Given the description of an element on the screen output the (x, y) to click on. 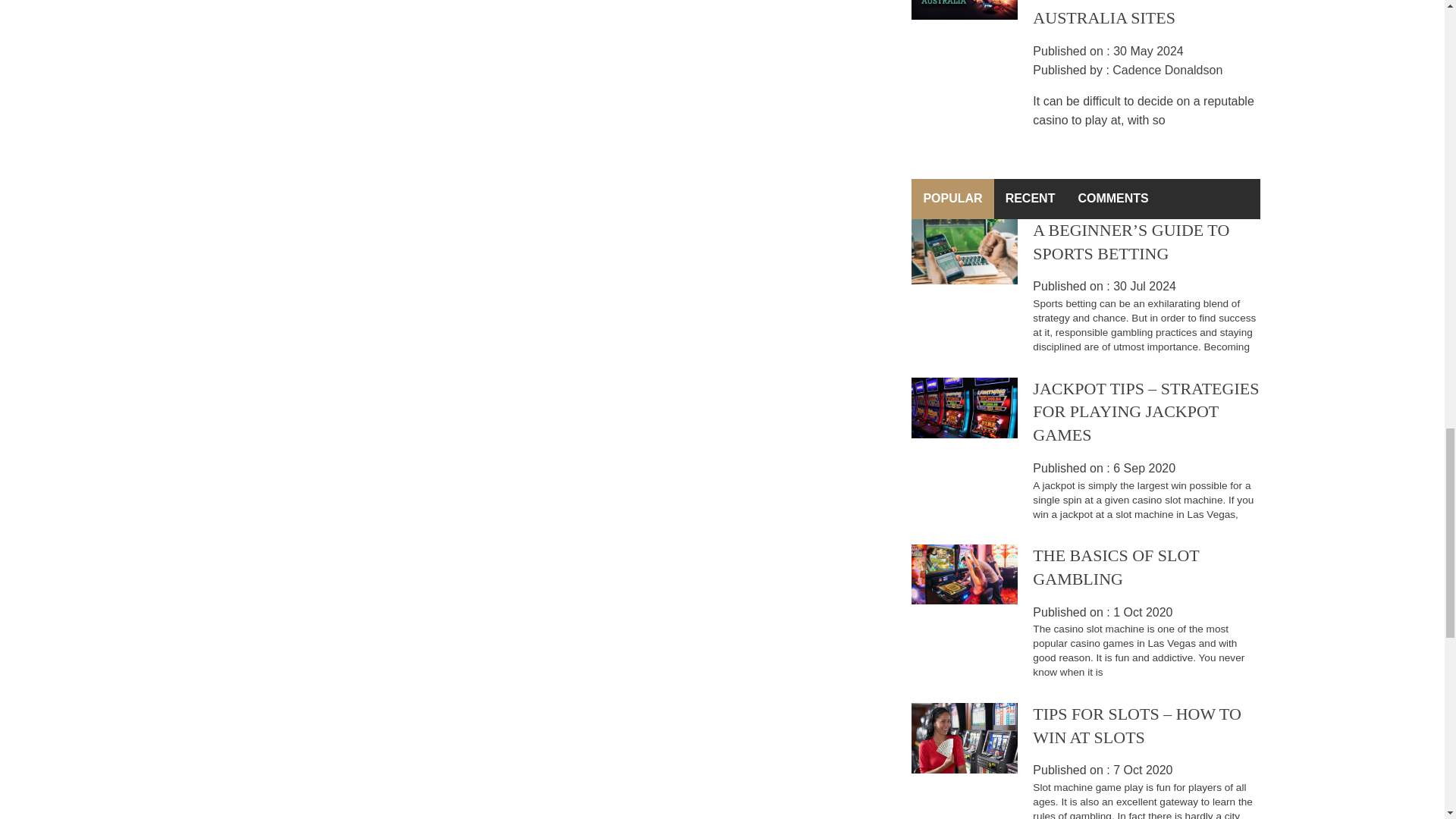
RECENT (1030, 199)
COMMENTS (1111, 199)
POPULAR (951, 199)
Cadence Donaldson (1167, 69)
TIPS FOR CHOOSING TRUSTED ONLINE CASINO AUSTRALIA SITES (1136, 13)
